Given the description of an element on the screen output the (x, y) to click on. 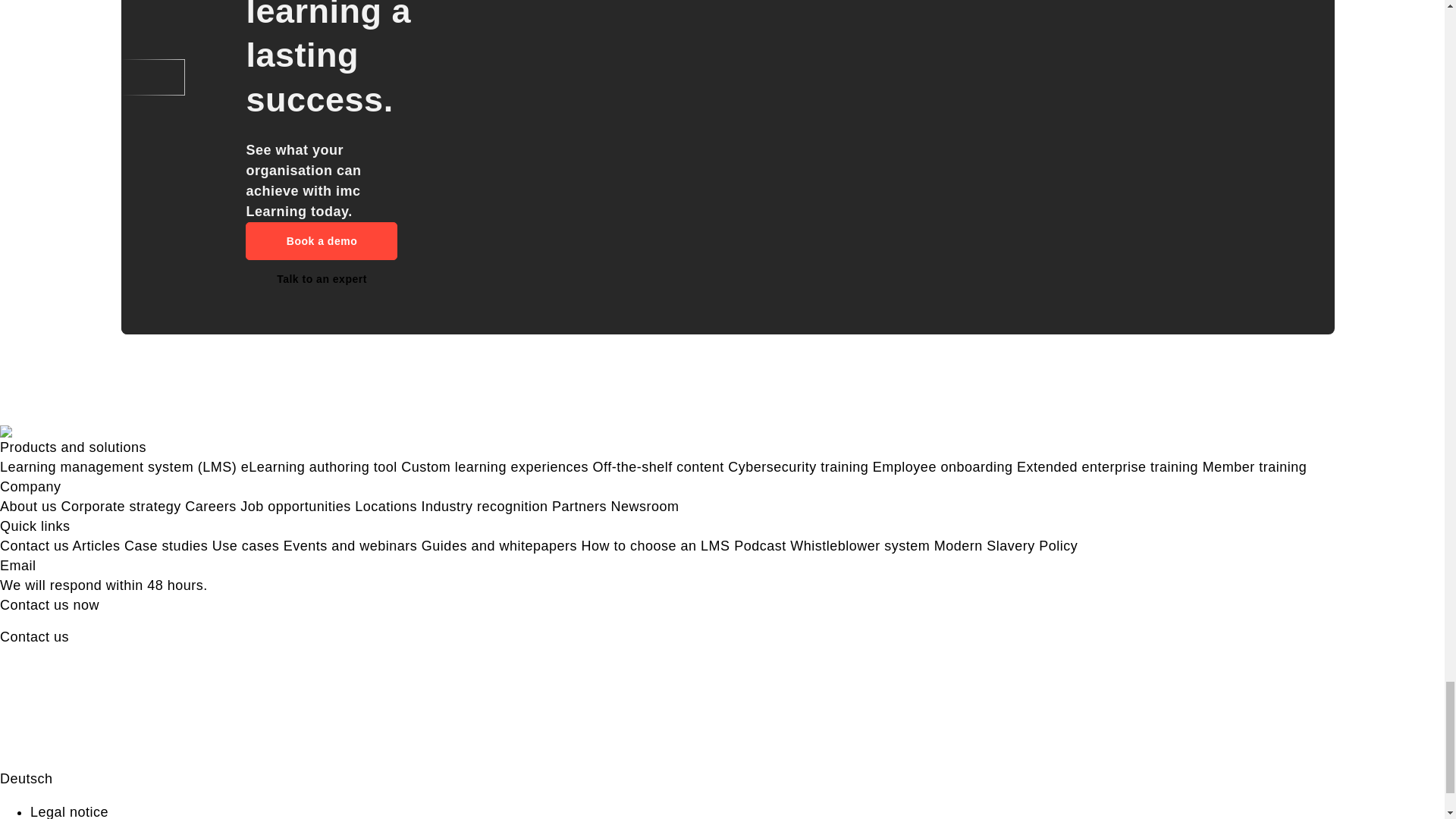
Employee onboarding (942, 467)
Custom learning experiences (494, 467)
Talk to an expert (321, 279)
Talk to an expert (321, 279)
Book a demo (321, 240)
Extended enterprise training (1107, 467)
eLearning authoring tool (319, 467)
Cybersecurity training (797, 467)
Book a demo (321, 240)
Off-the-shelf content (657, 467)
